Given the description of an element on the screen output the (x, y) to click on. 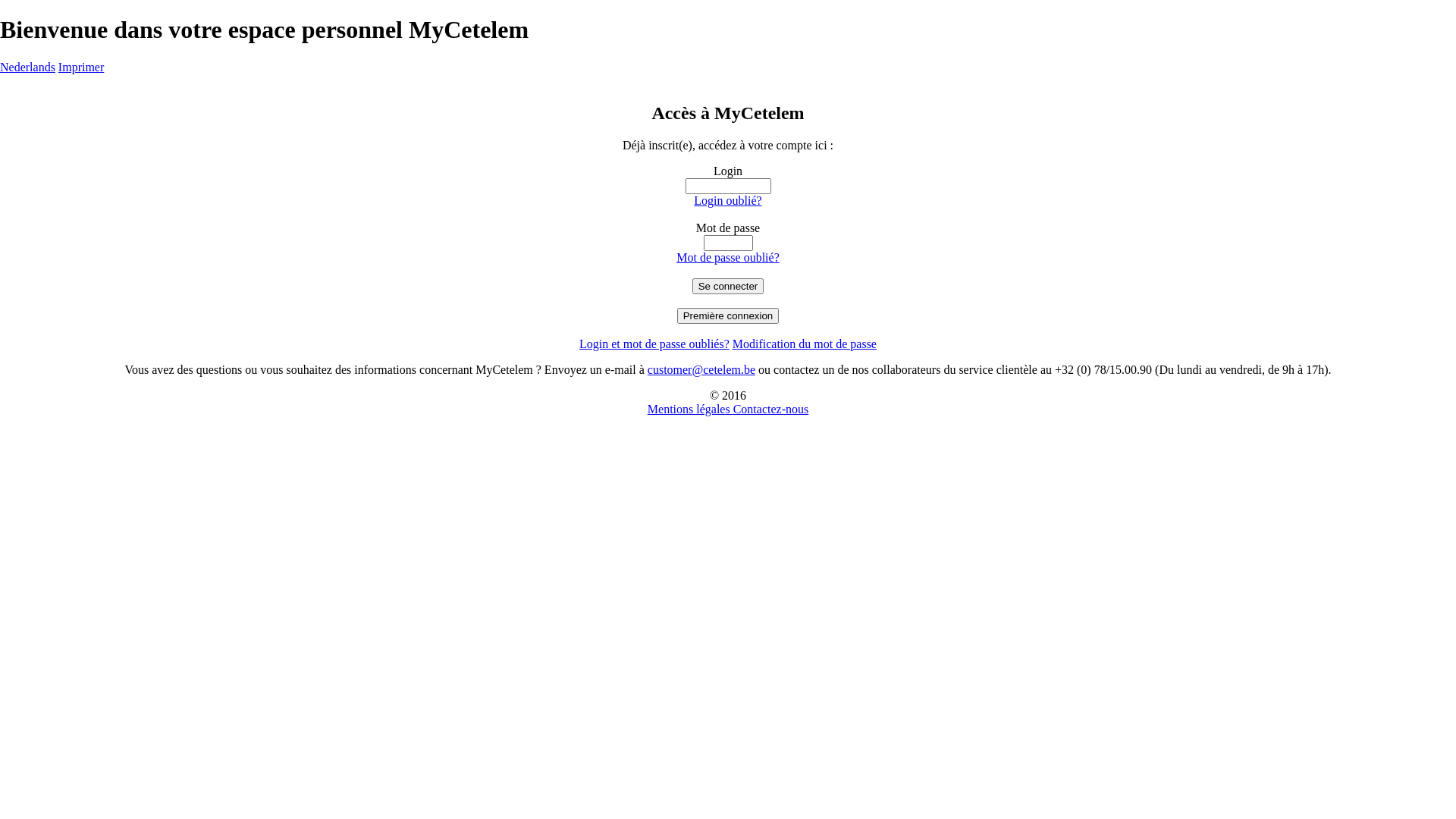
Modification du mot de passe Element type: text (804, 343)
Se connecter Element type: text (728, 286)
Contactez-nous Element type: text (771, 408)
Imprimer Element type: text (80, 66)
customer@cetelem.be Element type: text (701, 369)
Nederlands Element type: text (27, 66)
